Given the description of an element on the screen output the (x, y) to click on. 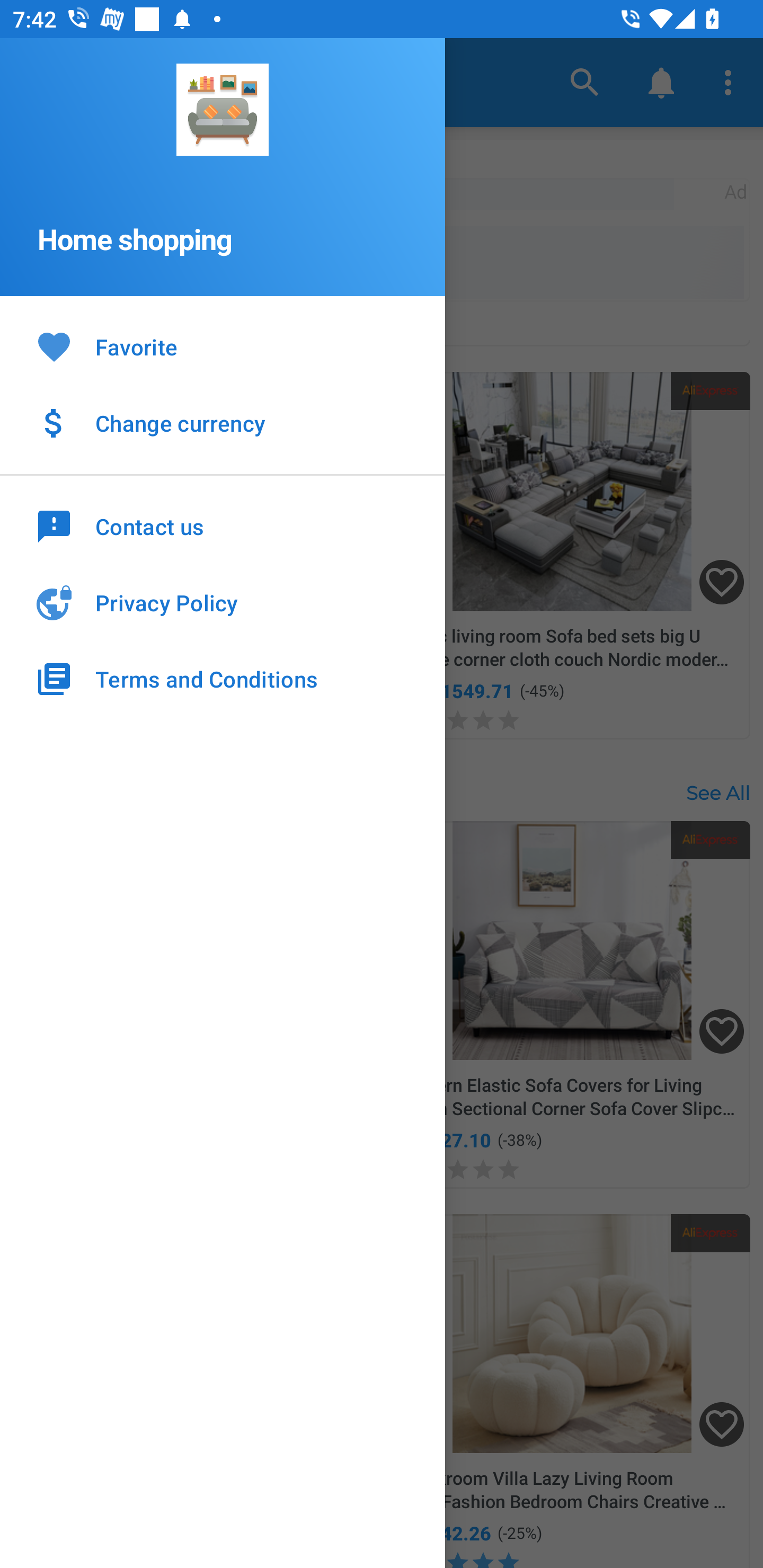
Favorite (222, 346)
Change currency (222, 422)
Contact us (222, 525)
Privacy Policy (222, 602)
Terms and Conditions (222, 678)
